Given the description of an element on the screen output the (x, y) to click on. 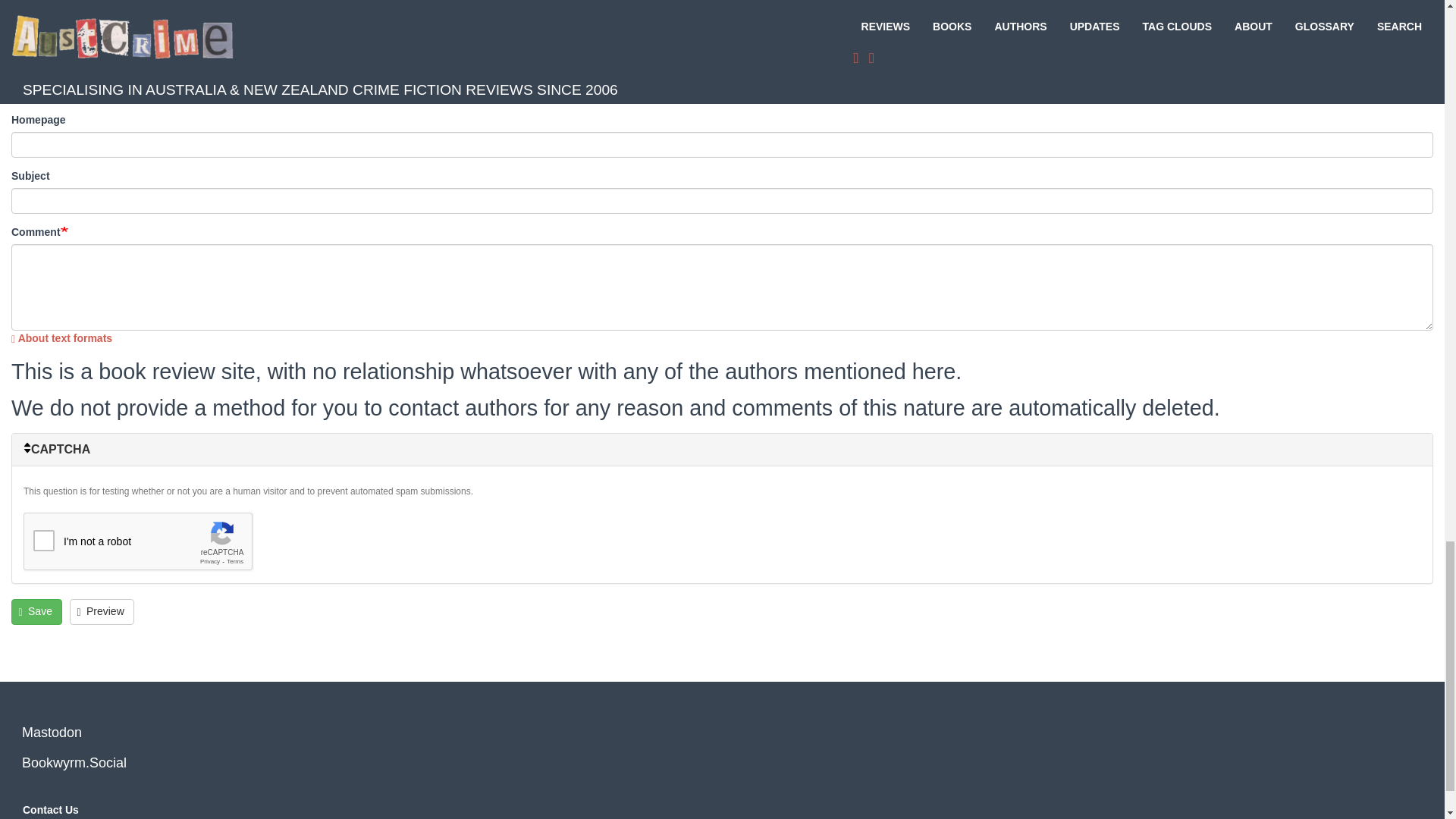
reCAPTCHA (138, 541)
